Given the description of an element on the screen output the (x, y) to click on. 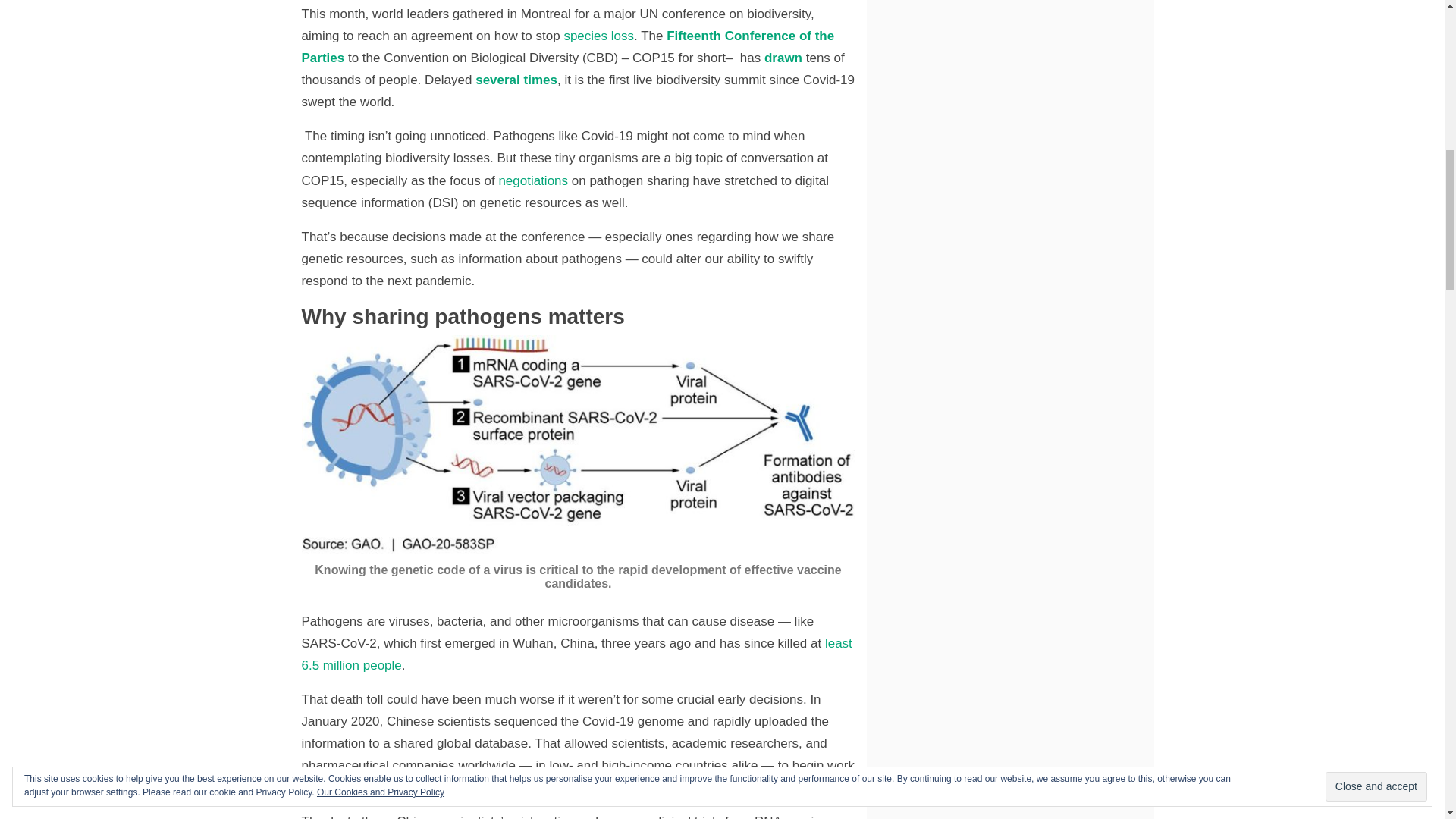
species loss (596, 35)
drawn (781, 57)
least 6.5 million people (576, 654)
negotiations (531, 180)
several times (513, 79)
Fifteenth Conference of the Parties (567, 46)
